Given the description of an element on the screen output the (x, y) to click on. 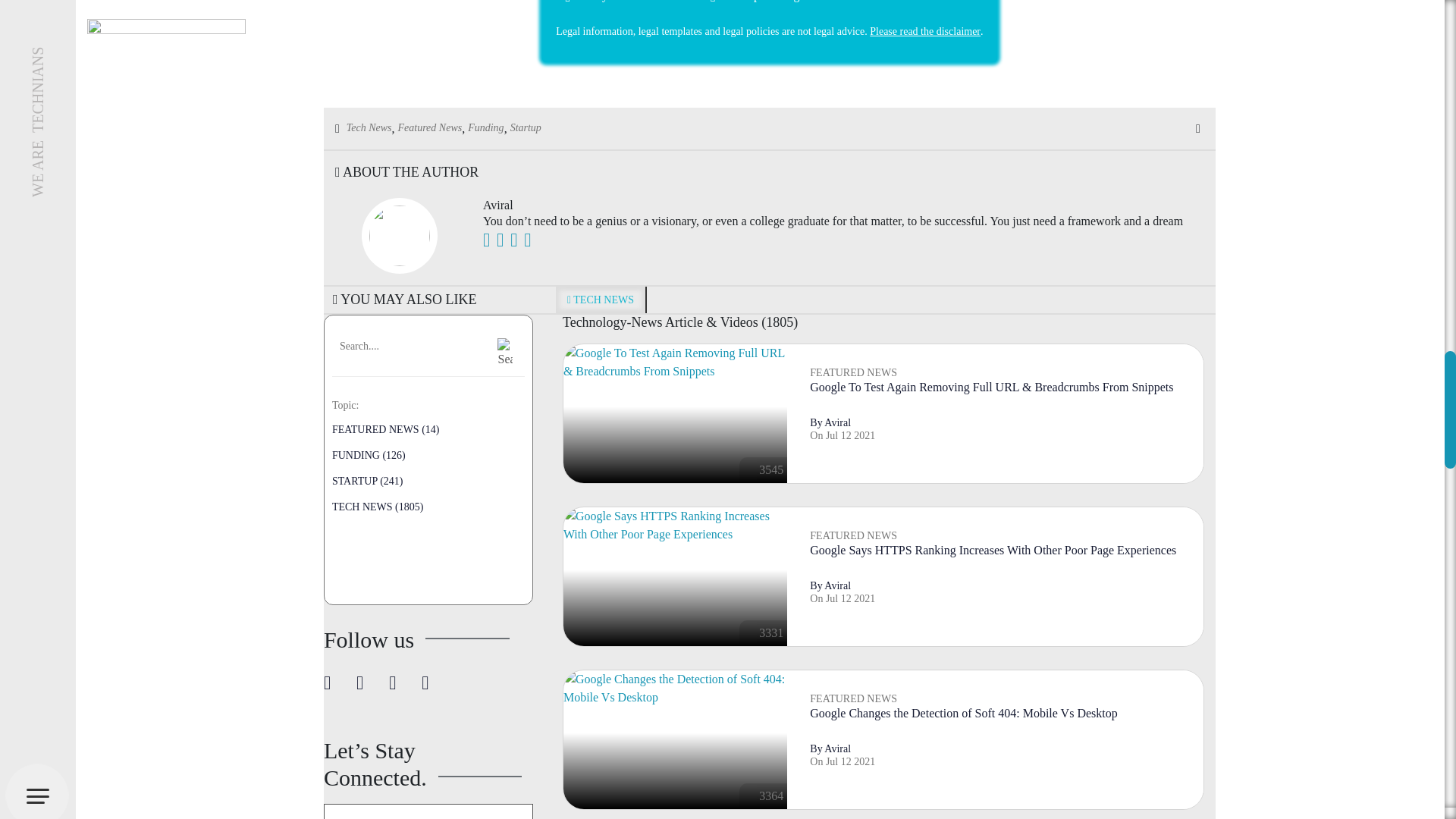
Featured News Tag (430, 127)
Startup Tag (526, 127)
Search for: (408, 345)
Funding Tag (485, 127)
Tech News Tag (368, 127)
